Given the description of an element on the screen output the (x, y) to click on. 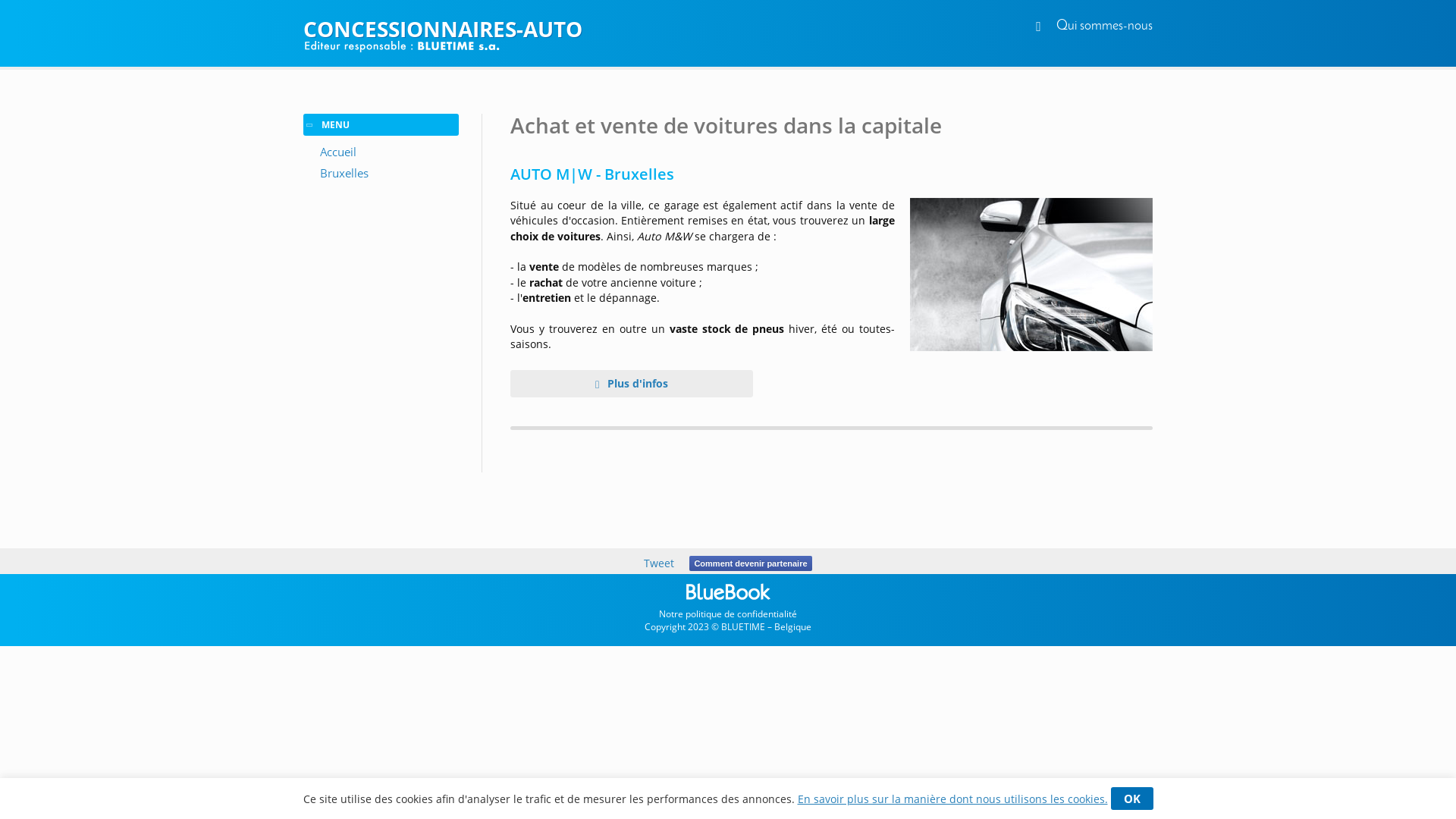
Qui sommes-nous Element type: text (1104, 25)
Tweet Element type: text (658, 562)
Comment devenir partenaire Element type: text (749, 562)
CONCESSIONNAIRES-AUTO Element type: text (727, 28)
Plus d'infos Element type: text (631, 383)
